Given the description of an element on the screen output the (x, y) to click on. 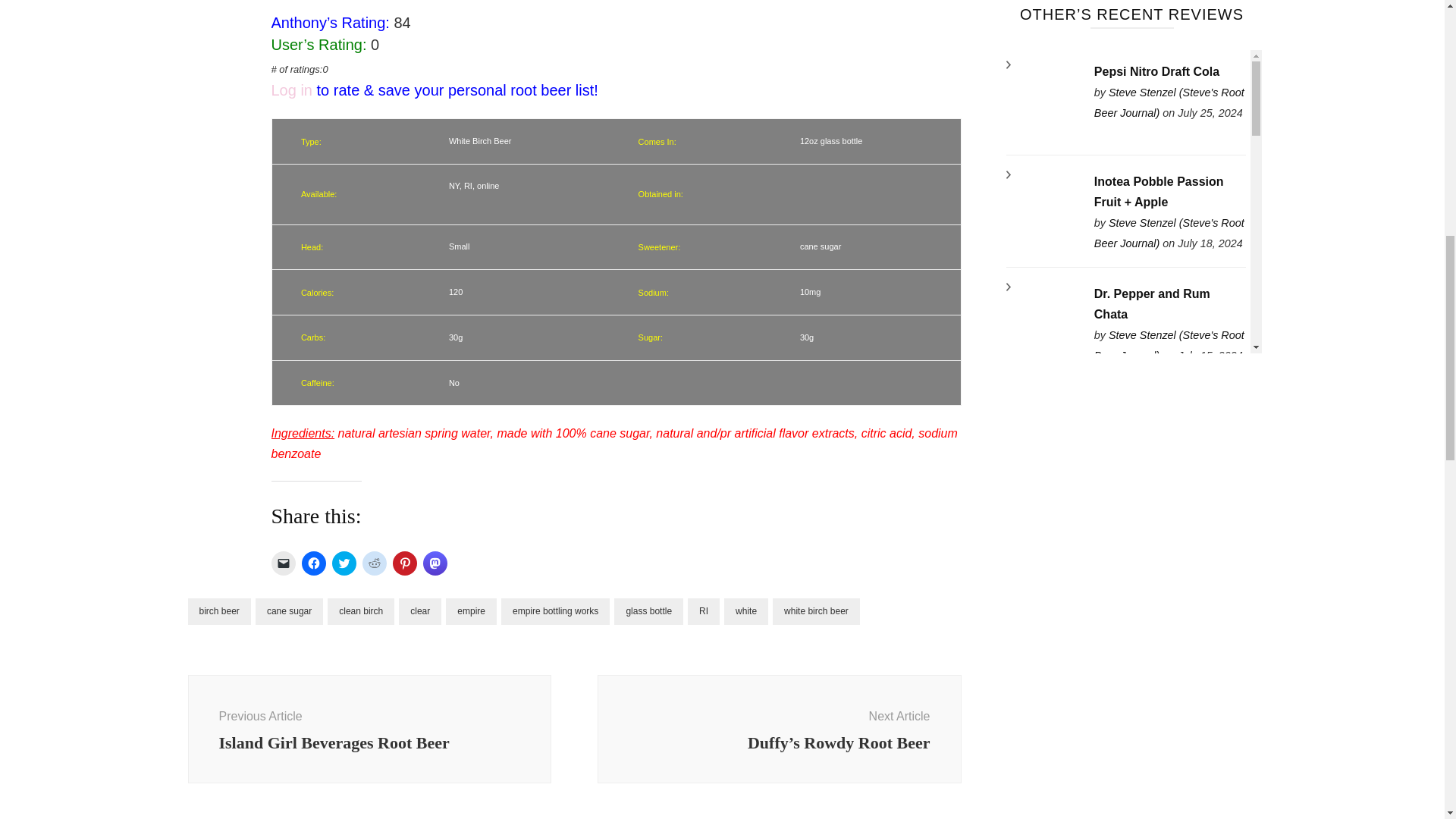
Click to share on Twitter (343, 563)
Click to share on Reddit (374, 563)
Click to share on Pinterest (404, 563)
rootbeerjournal.blogspot.com (1169, 233)
Click to email a link to a friend (282, 563)
Pepsi Nitro Draft Cola (1043, 103)
Click to share on Facebook (313, 563)
rootbeerjournal.blogspot.com (1169, 102)
Click to share on Mastodon (434, 563)
